Given the description of an element on the screen output the (x, y) to click on. 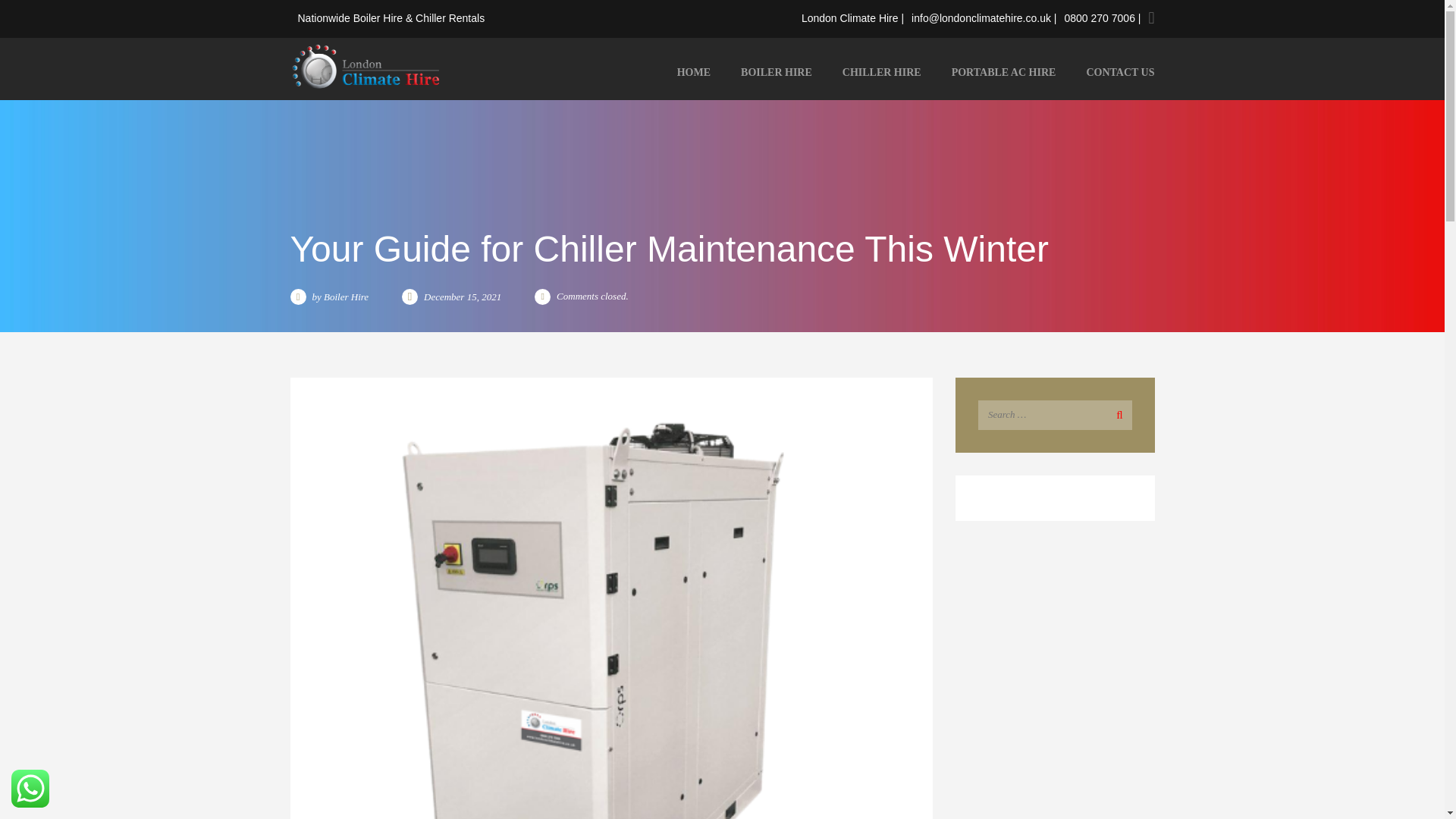
Search (1116, 414)
HOME (693, 72)
London Climate Hire (365, 64)
CHILLER HIRE (881, 72)
BOILER HIRE (776, 72)
PORTABLE AC HIRE (1003, 72)
Search (1116, 414)
Search (1116, 414)
CONTACT US (1112, 72)
